Given the description of an element on the screen output the (x, y) to click on. 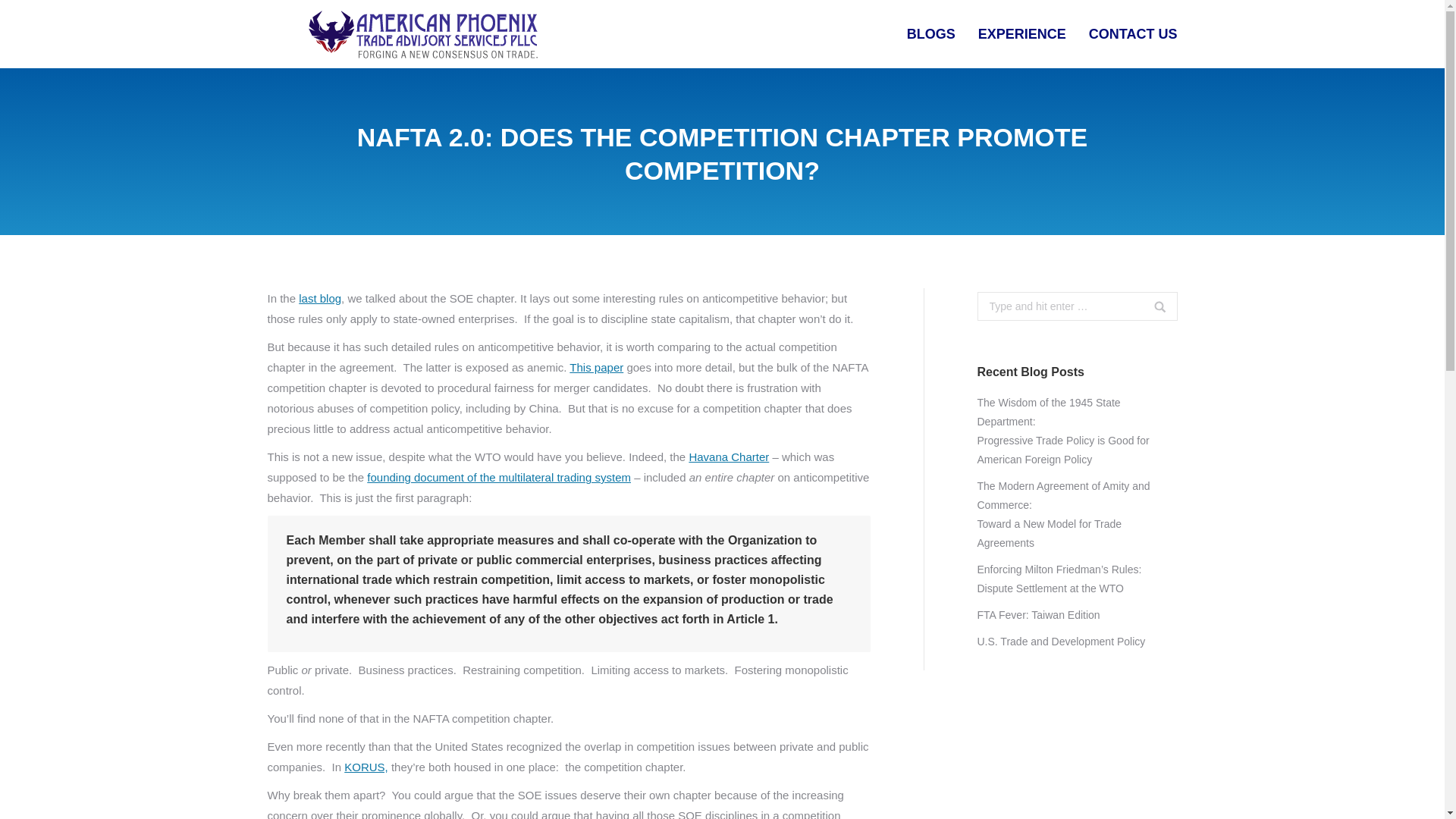
EXPERIENCE (1021, 34)
This paper (596, 367)
U.S. Trade and Development Policy (1060, 641)
Go! (1145, 315)
founding document of the multilateral trading system (498, 477)
KORUS, (365, 766)
FTA Fever: Taiwan Edition (1037, 615)
last blog (319, 297)
